Given the description of an element on the screen output the (x, y) to click on. 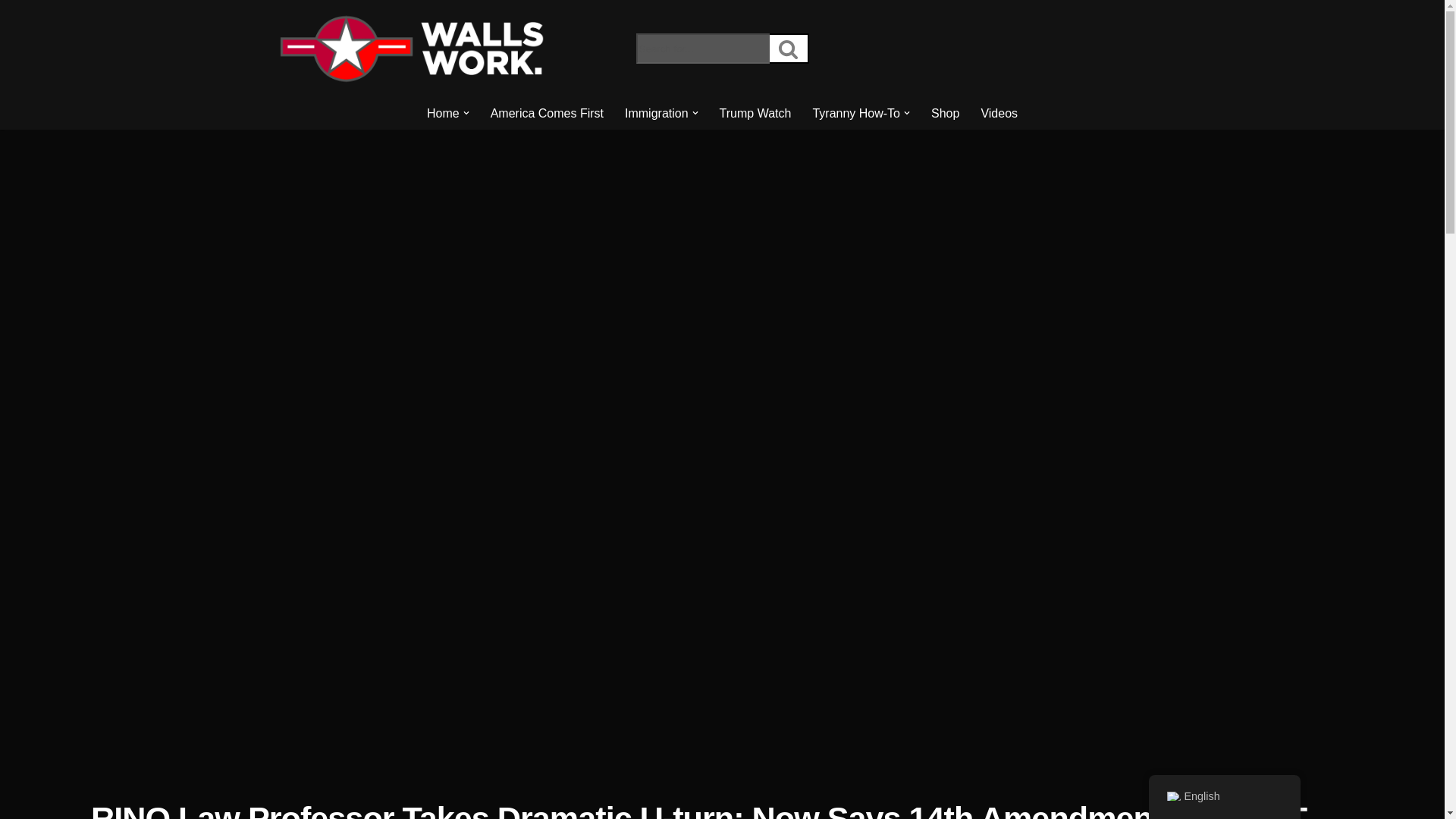
Home (443, 113)
English (1172, 795)
Videos (998, 113)
Skip to content (11, 31)
Shop (945, 113)
America Comes First (547, 113)
Immigration (656, 113)
Trump Watch (755, 113)
Tyranny How-To (855, 113)
